Given the description of an element on the screen output the (x, y) to click on. 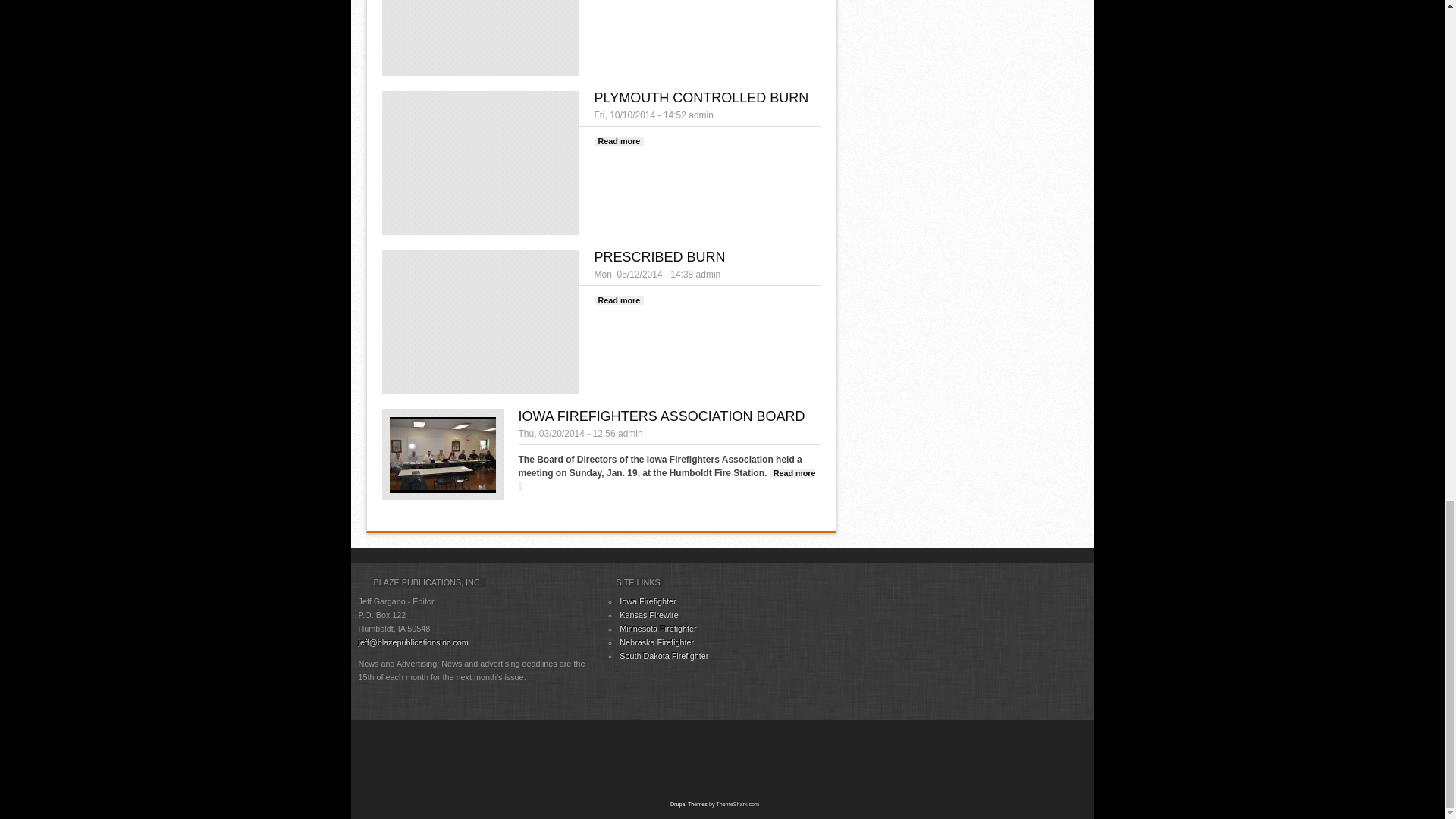
Prescribed burn (619, 299)
PRESCRIBED BURN (659, 256)
Kansas Firewire (649, 614)
PLYMOUTH CONTROLLED BURN (701, 97)
Nebraska Firefighter (657, 642)
Kansas Firewire (649, 614)
South Dakota Firefighter (663, 655)
Iowa Firefighters Association Board (666, 479)
Plymouth controlled burn (619, 140)
Minnesota Firefighter (619, 140)
Iowa Firefighter (657, 628)
Iowa Firefighter (647, 601)
IOWA FIREFIGHTERS ASSOCIATION BOARD (647, 601)
